Given the description of an element on the screen output the (x, y) to click on. 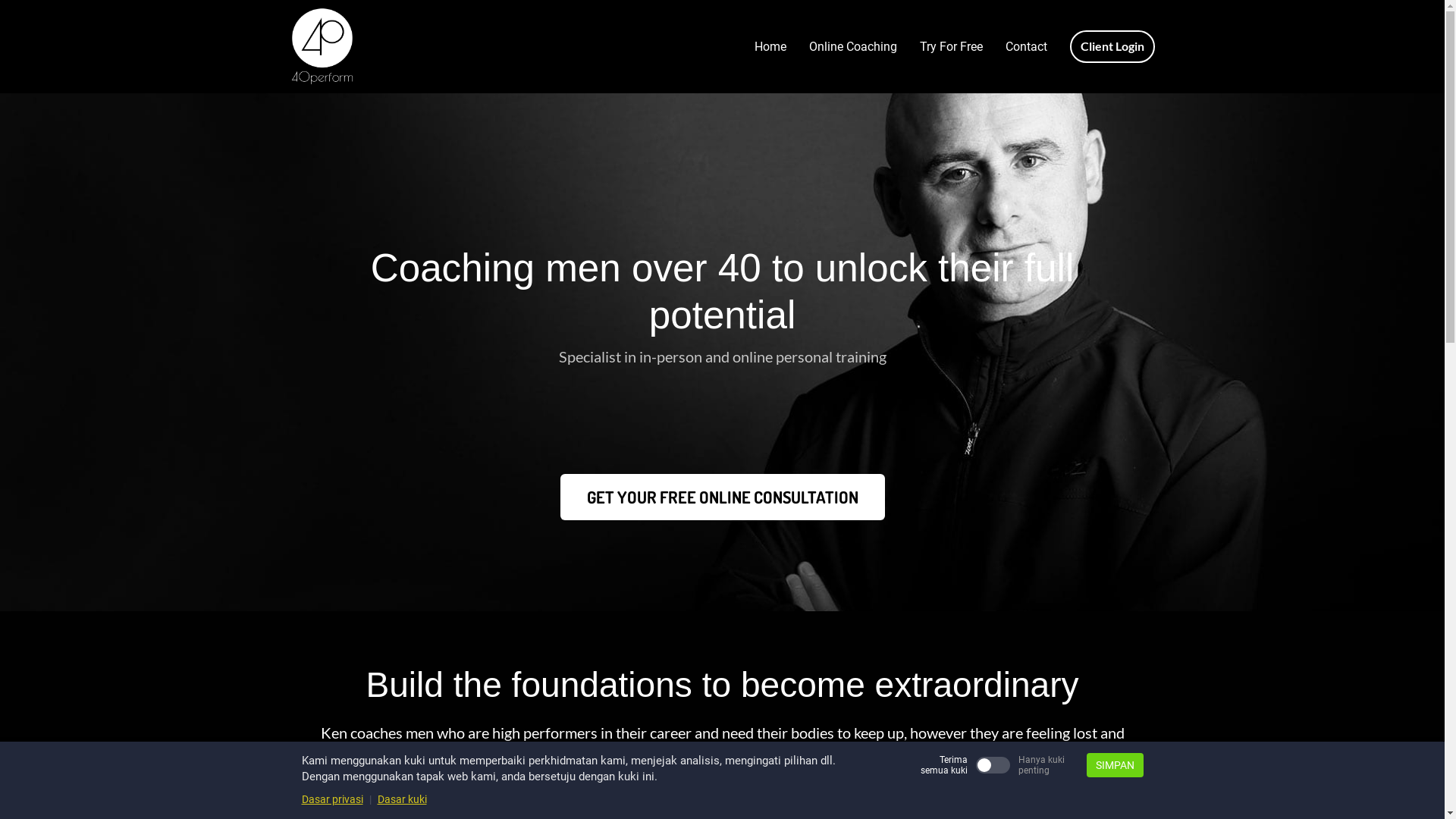
SIMPAN Element type: text (1113, 765)
GET YOUR FREE ONLINE CONSULTATION Element type: text (721, 496)
Dasar privasi Element type: text (332, 799)
Home Element type: text (770, 46)
Dasar kuki Element type: text (401, 799)
Contact Element type: text (1025, 46)
Client Login Element type: text (1111, 46)
Try For Free Element type: text (951, 46)
Online Coaching Element type: text (852, 46)
